Given the description of an element on the screen output the (x, y) to click on. 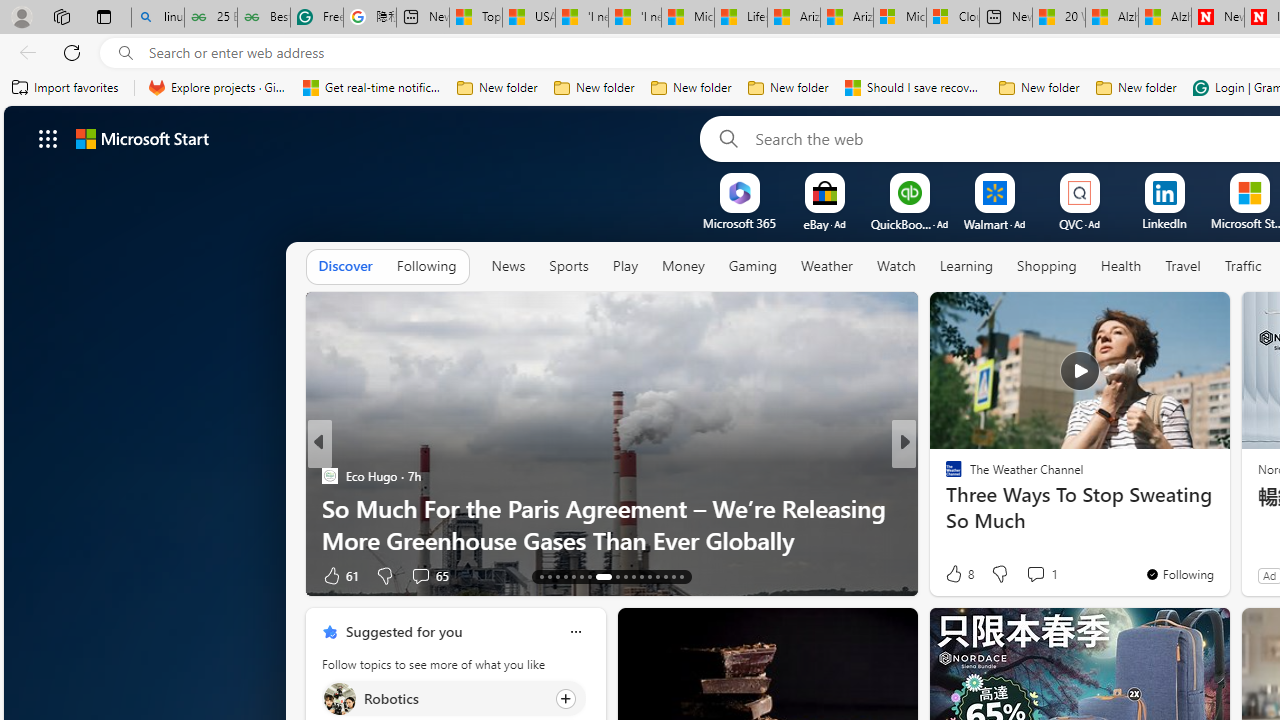
AutomationID: tab-23 (632, 576)
App launcher (47, 138)
Wealth of Geeks (944, 475)
Newsweek - News, Analysis, Politics, Business, Technology (1217, 17)
40 Like (956, 574)
View comments 10 Comment (1042, 575)
AutomationID: tab-16 (564, 576)
AutomationID: tab-29 (681, 576)
25 Basic Linux Commands For Beginners - GeeksforGeeks (210, 17)
AutomationID: tab-14 (549, 576)
